Given the description of an element on the screen output the (x, y) to click on. 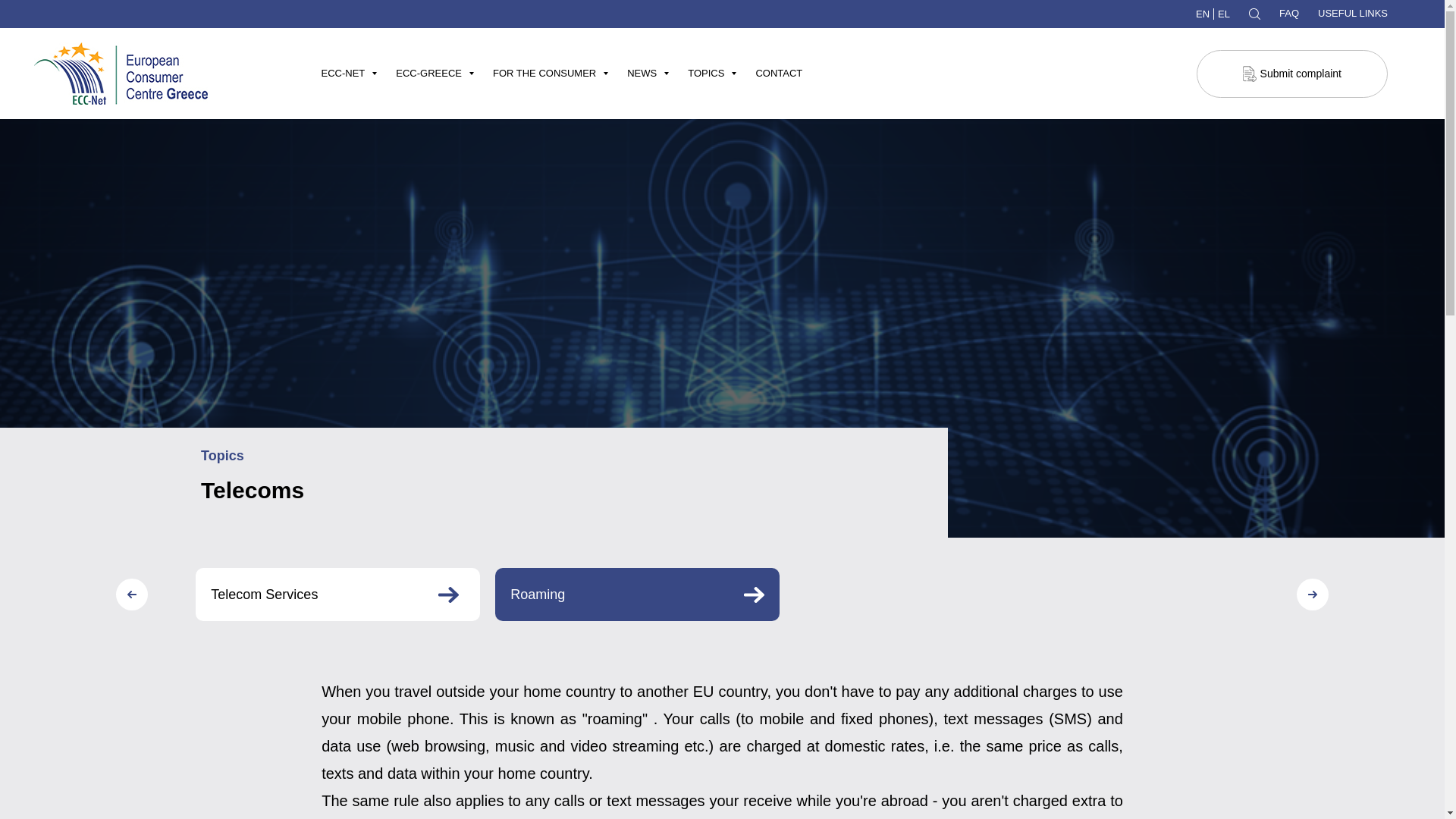
Telecom Services (337, 594)
EL (1223, 13)
Travel (758, 137)
USEFUL LINKS (1352, 12)
Submit complaint (1291, 73)
Announcements (691, 137)
EN (1204, 13)
FAQ (1288, 12)
